Given the description of an element on the screen output the (x, y) to click on. 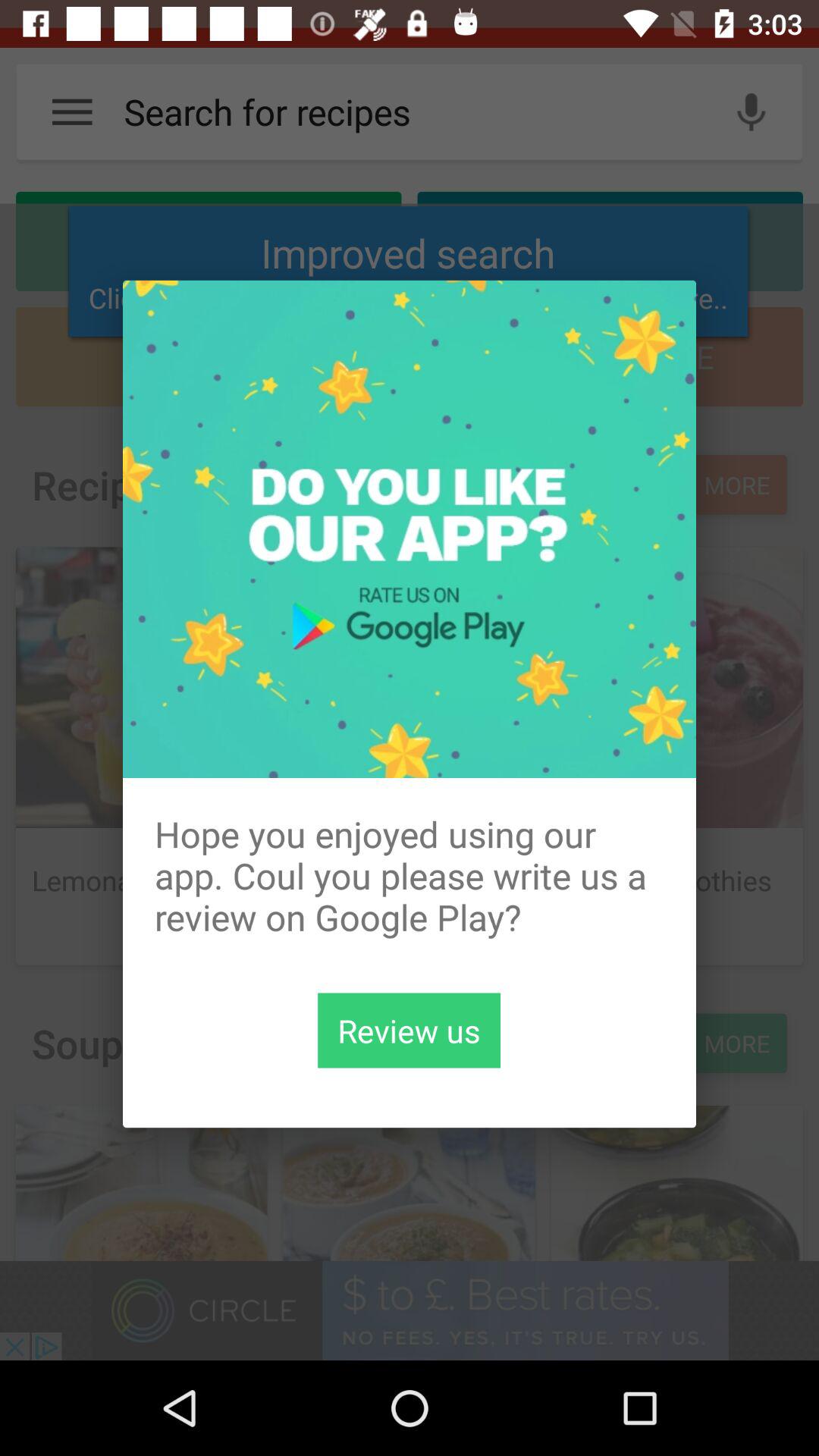
select the icon above the hope you enjoyed icon (409, 529)
